Given the description of an element on the screen output the (x, y) to click on. 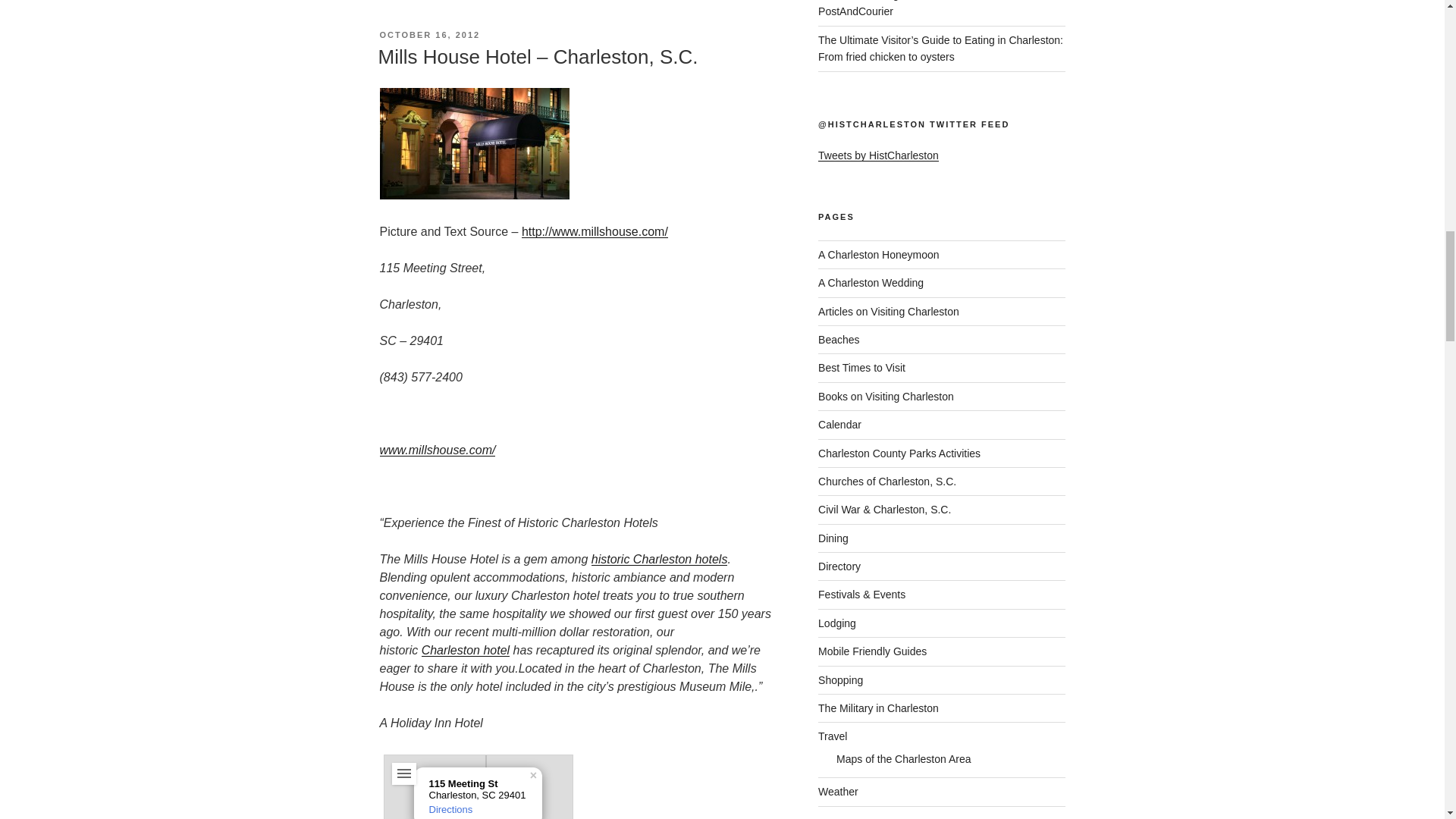
OCTOBER 16, 2012 (429, 34)
Charleston hotel (466, 649)
historic Charleston hotels (659, 558)
Menu (402, 773)
Directions (451, 808)
The Mills House Hotel, Charleston, S.C. (436, 449)
